Given the description of an element on the screen output the (x, y) to click on. 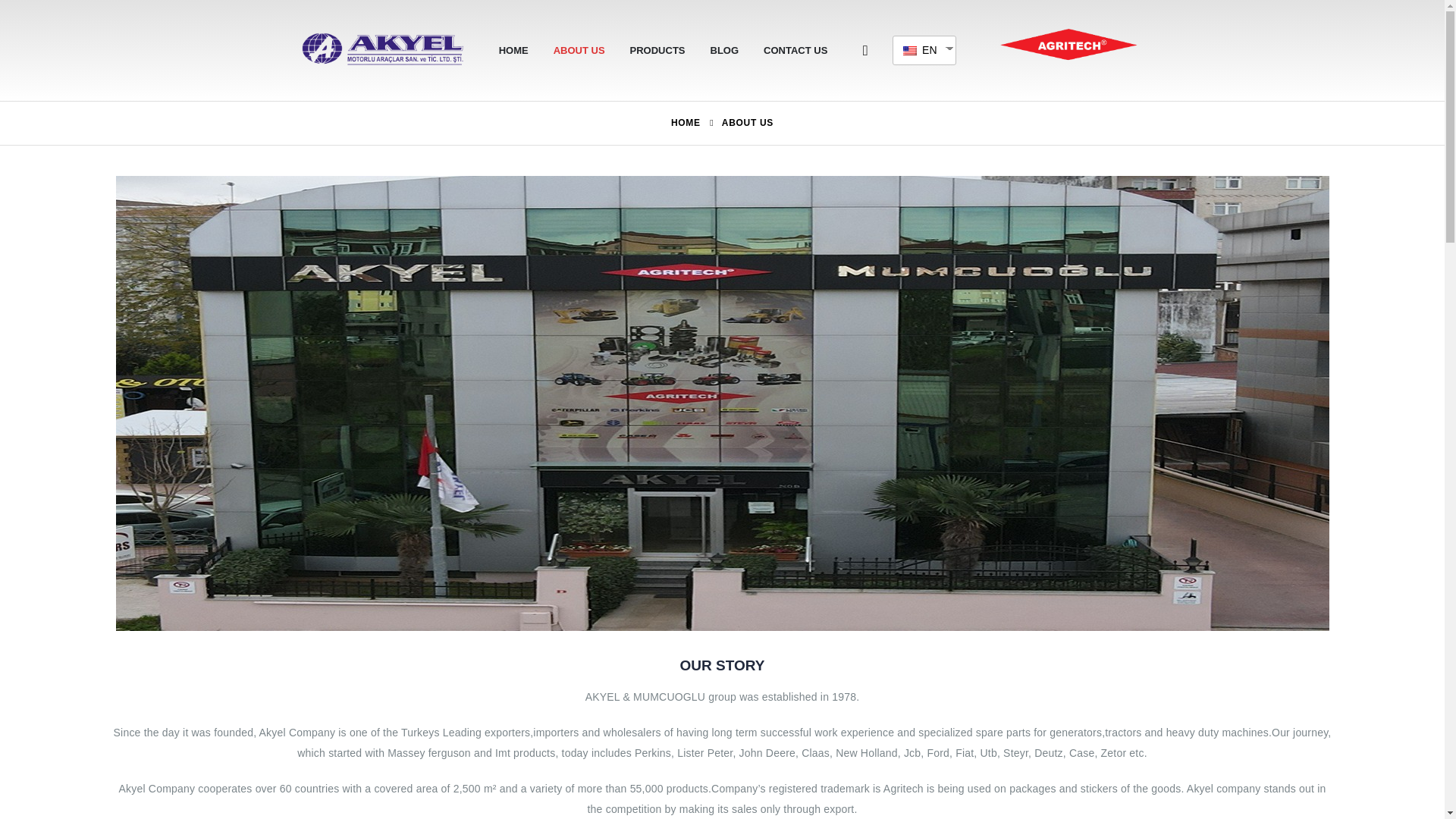
EN (918, 50)
English (918, 50)
PRODUCTS (657, 50)
HOME (685, 123)
English (909, 50)
ABOUT US (579, 50)
CONTACT US (795, 50)
